Given the description of an element on the screen output the (x, y) to click on. 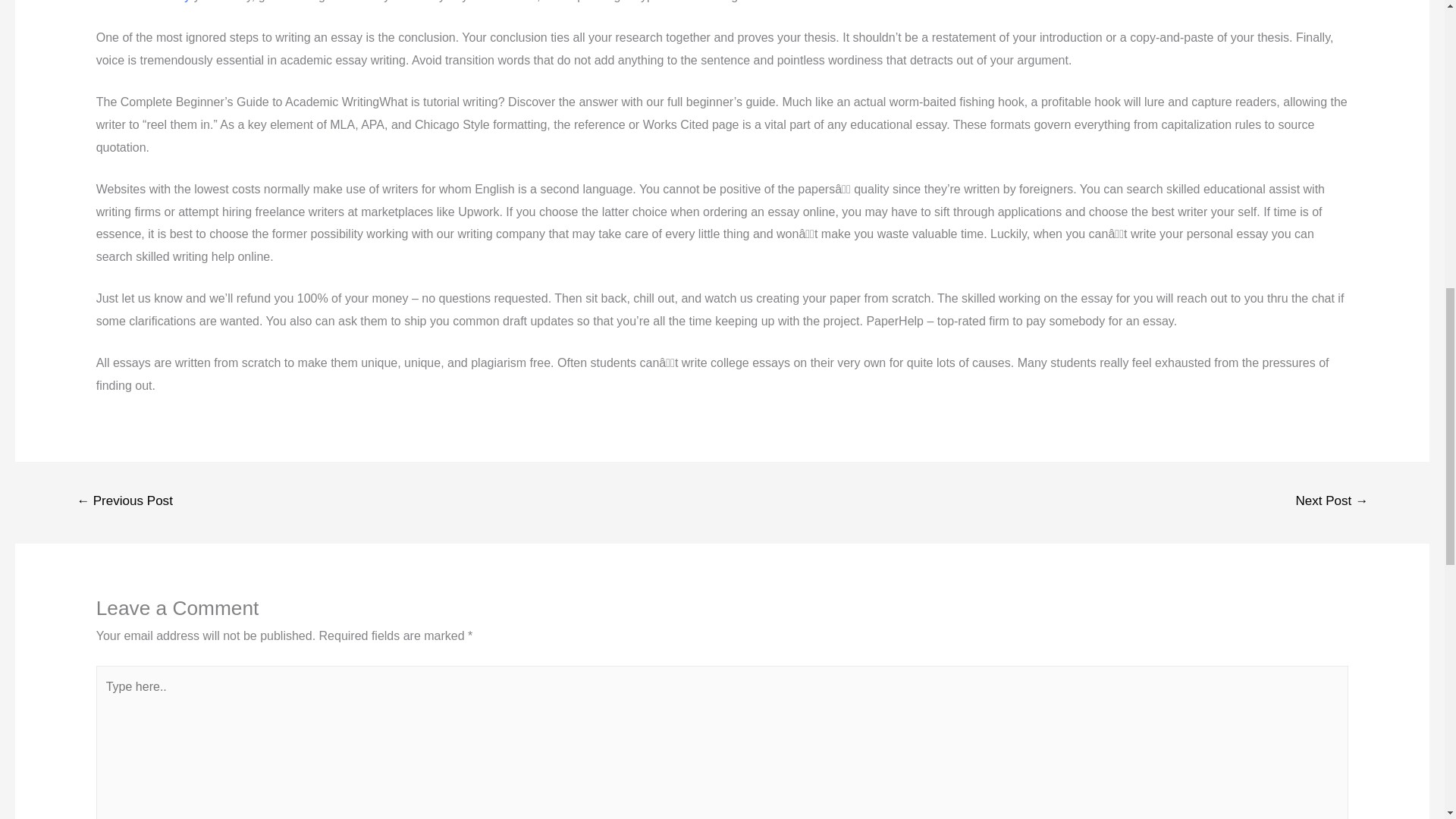
informative essay (143, 1)
